Given the description of an element on the screen output the (x, y) to click on. 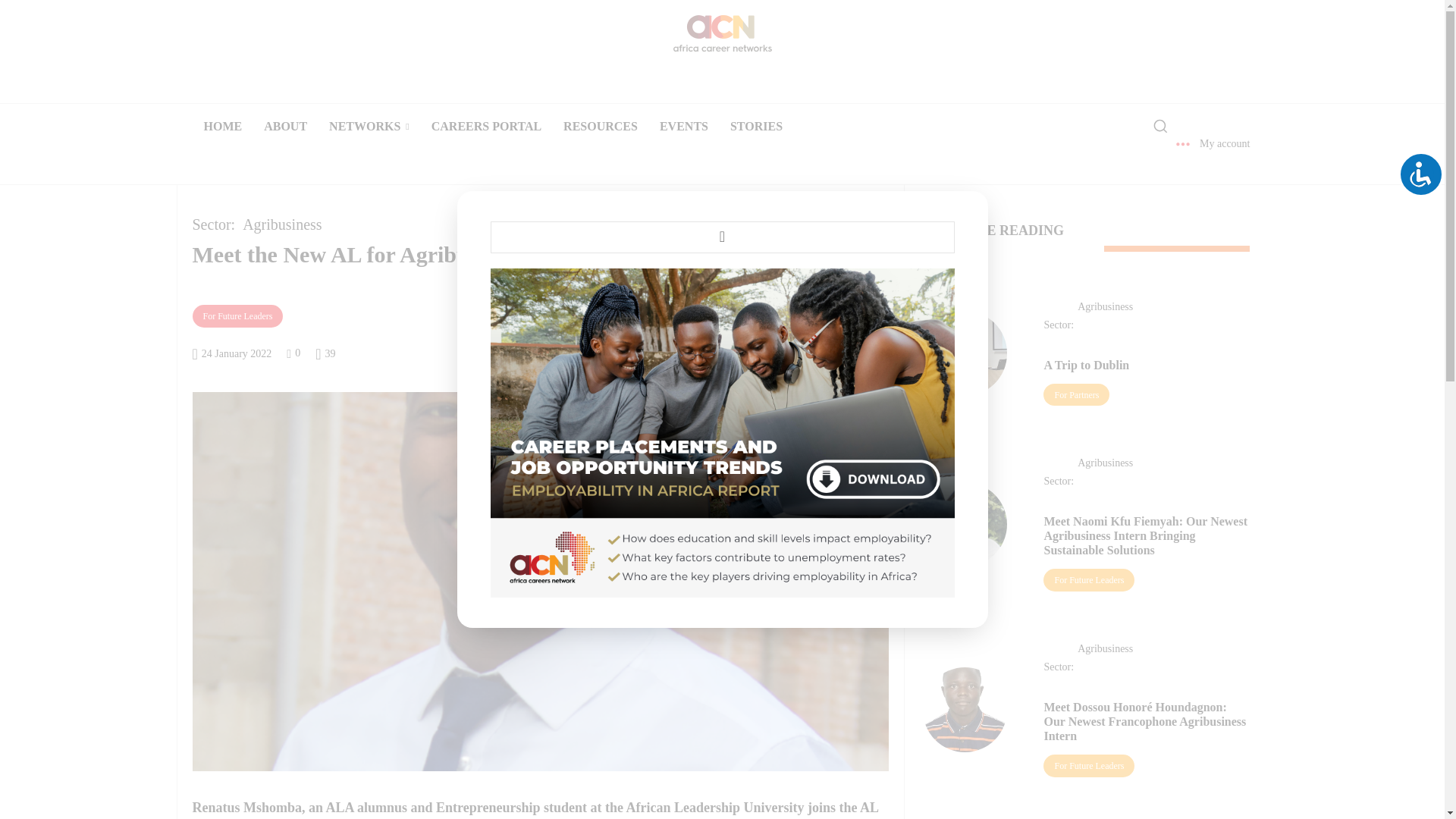
HOME (221, 125)
ABOUT (284, 125)
